Given the description of an element on the screen output the (x, y) to click on. 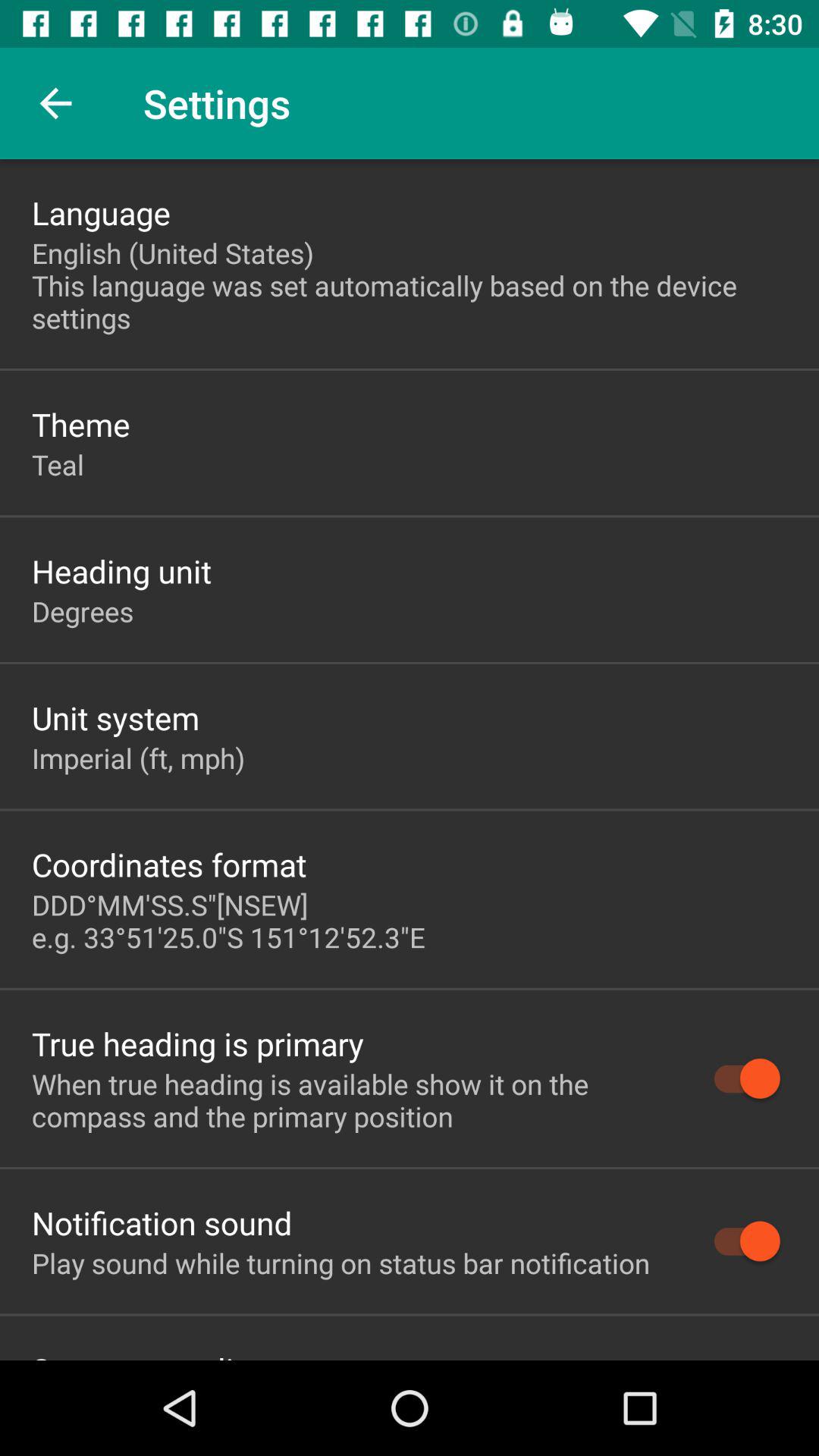
choose item to the left of the settings icon (55, 103)
